Given the description of an element on the screen output the (x, y) to click on. 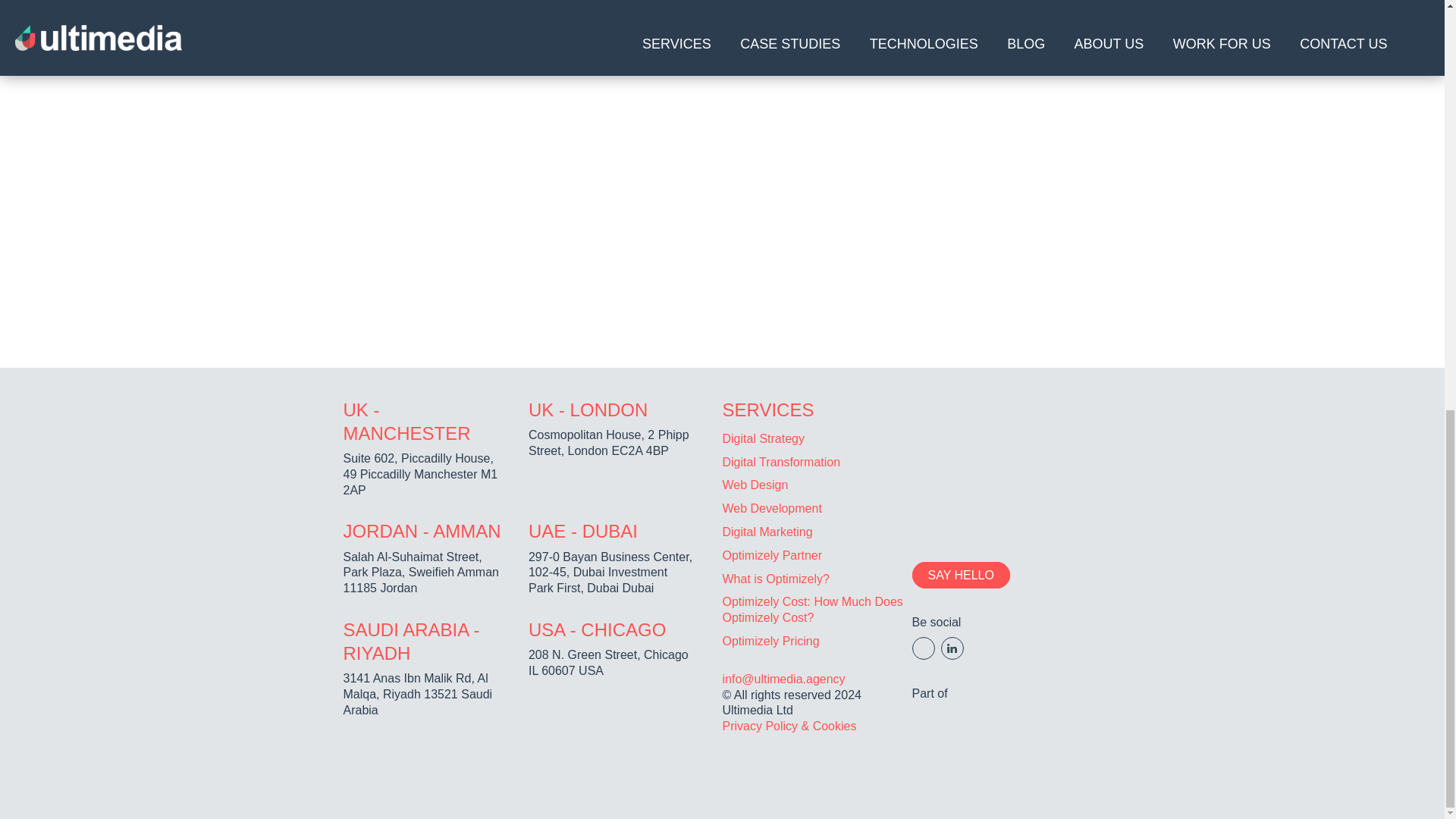
SAUDI ARABIA - RIYADH (410, 641)
JORDAN - AMMAN (421, 530)
UAE - DUBAI (582, 530)
USA - CHICAGO (596, 629)
UK - MANCHESTER (406, 421)
UK - LONDON (587, 409)
